Given the description of an element on the screen output the (x, y) to click on. 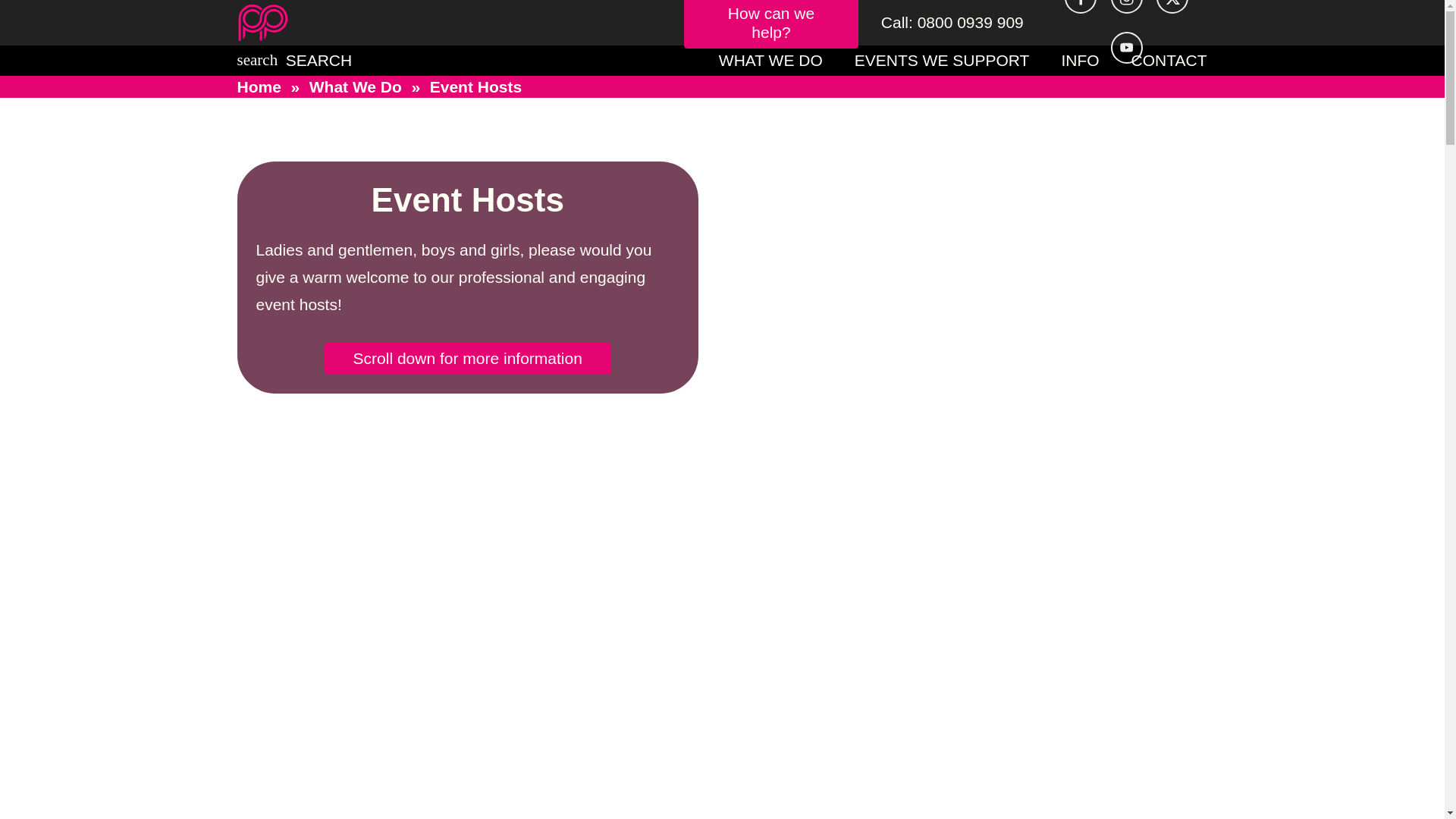
WHAT WE DO (770, 60)
How can we help? (771, 23)
Twitter (1172, 6)
INFO (1080, 60)
searchSEARCH (293, 59)
Facebook (1080, 6)
Instagram (1126, 6)
YouTube (1126, 47)
CONTACT (1169, 60)
EVENTS WE SUPPORT (941, 60)
